Given the description of an element on the screen output the (x, y) to click on. 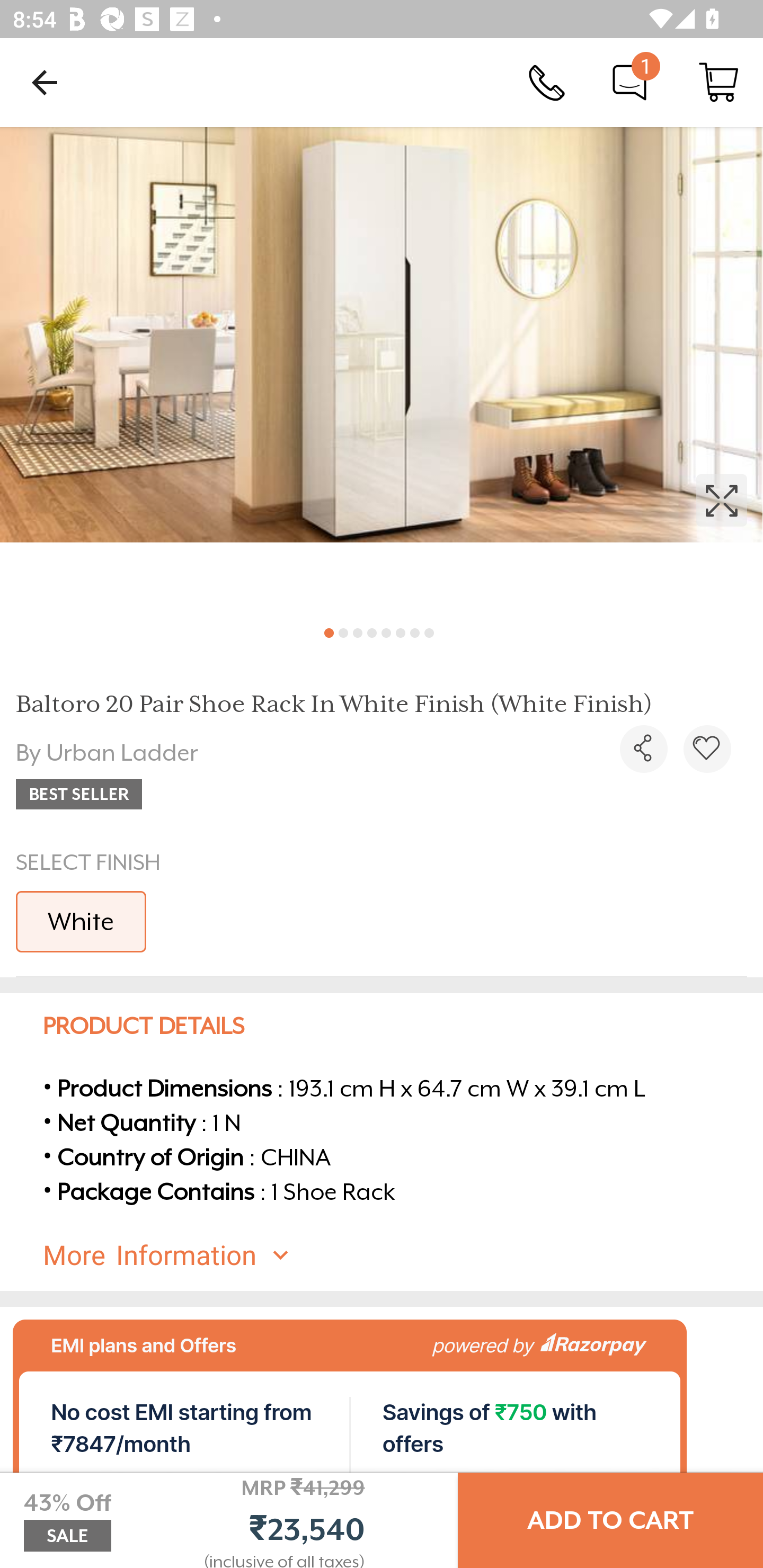
Navigate up (44, 82)
Call Us (546, 81)
Chat (629, 81)
Cart (718, 81)
 (381, 370)
 (643, 748)
 (706, 748)
White (81, 920)
More Information  (396, 1255)
ADD TO CART (610, 1520)
